Given the description of an element on the screen output the (x, y) to click on. 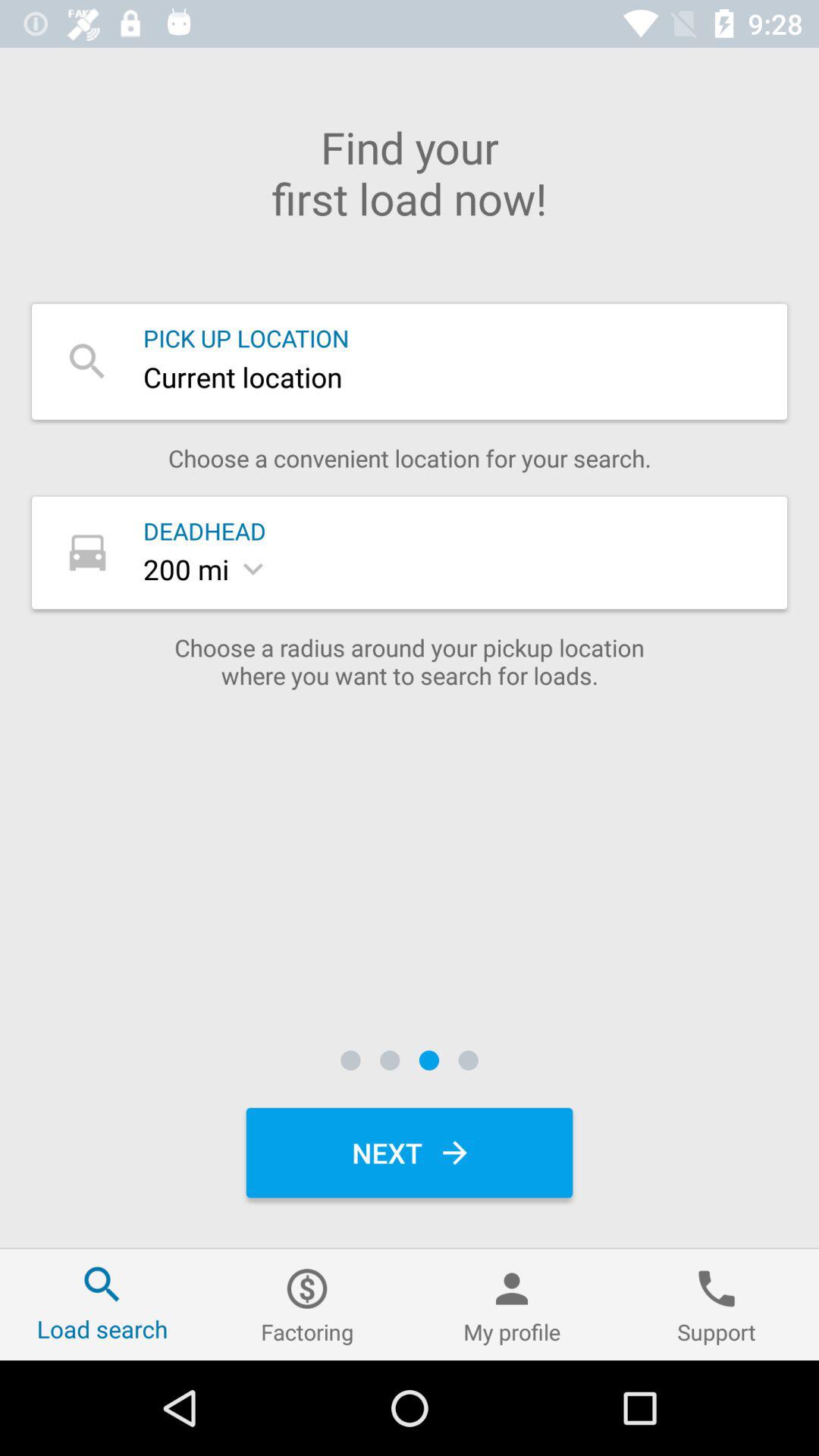
launch item next to factoring icon (102, 1304)
